Given the description of an element on the screen output the (x, y) to click on. 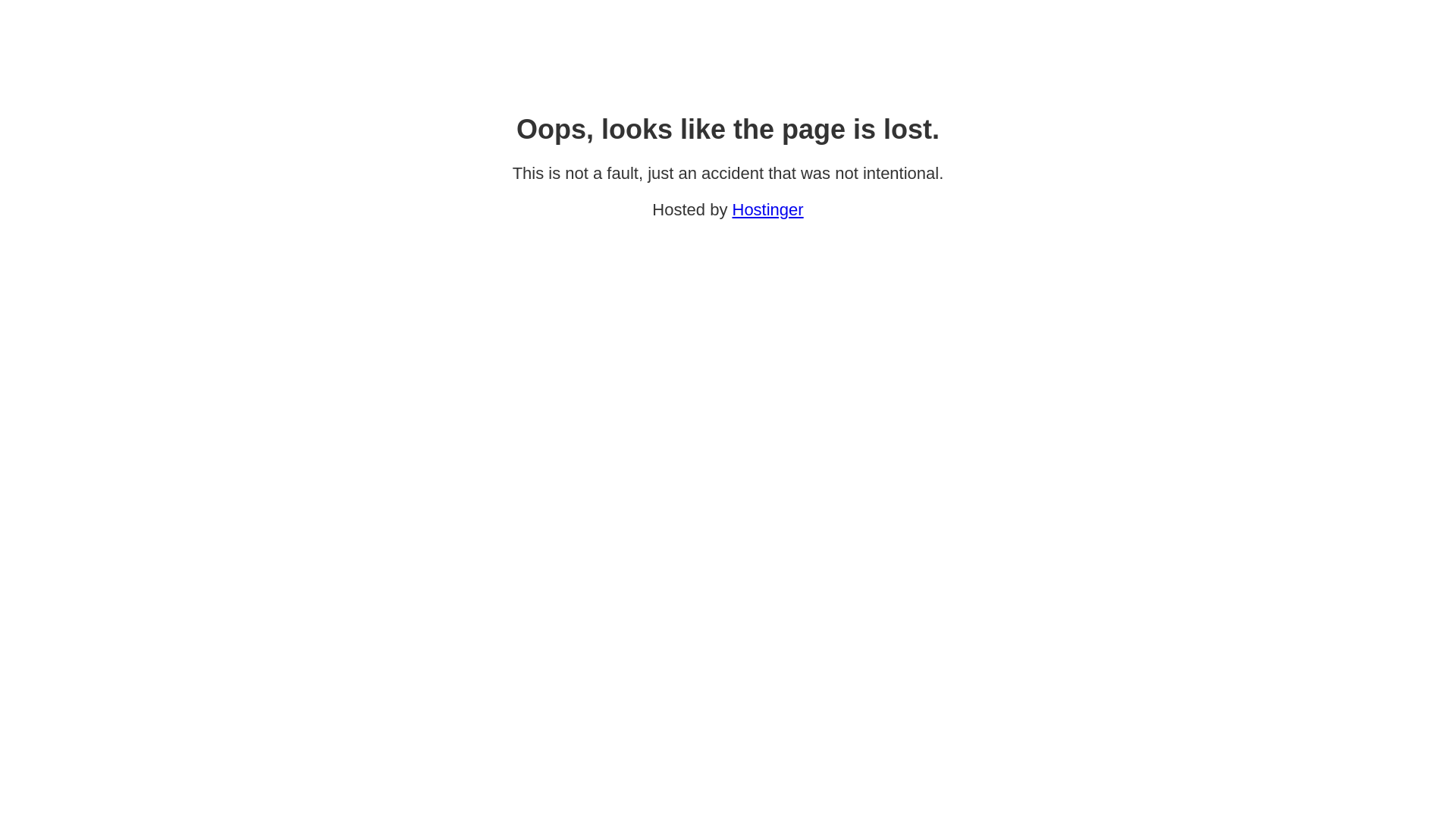
Hostinger Element type: text (767, 209)
